Given the description of an element on the screen output the (x, y) to click on. 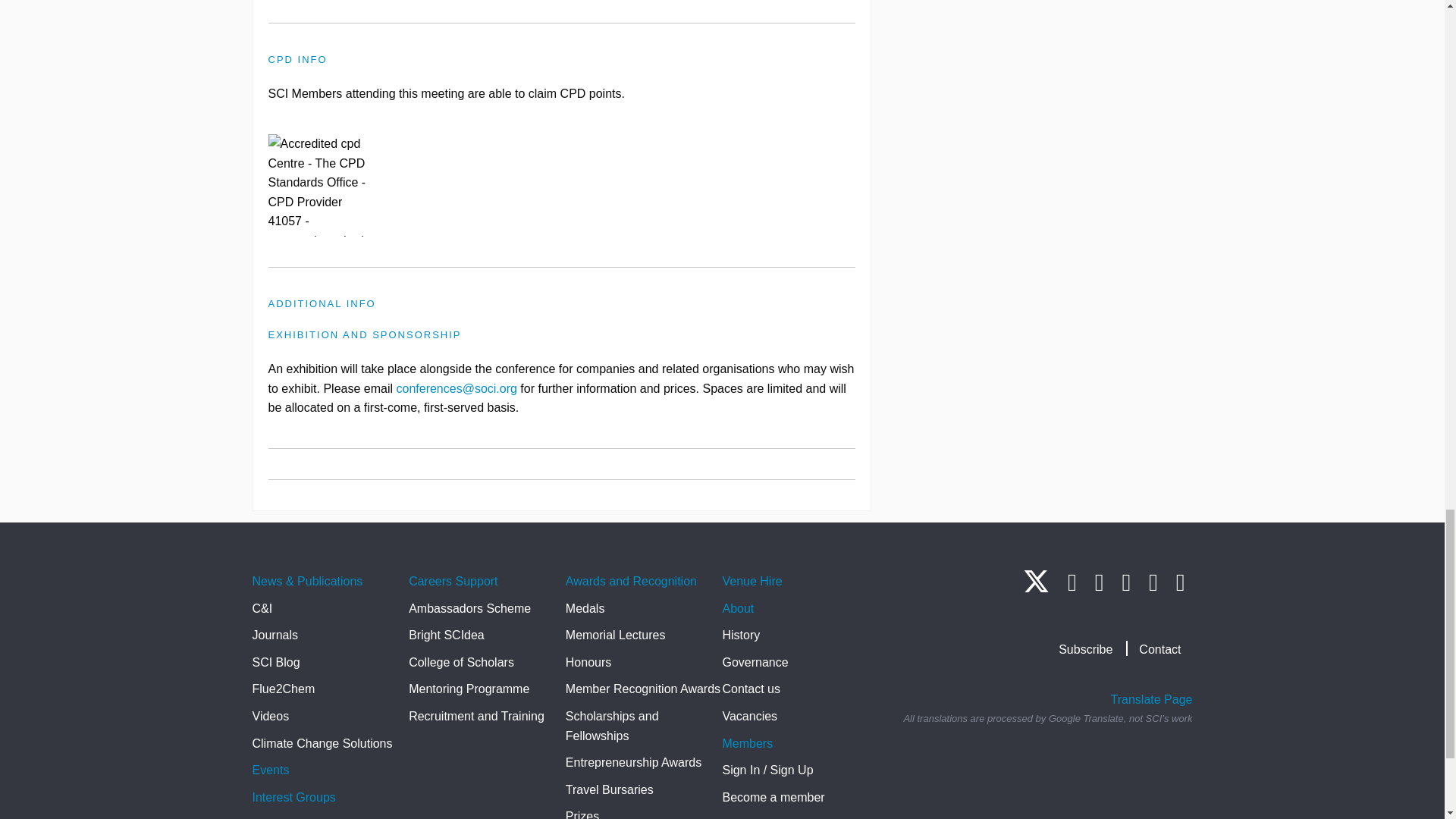
Instagram (1098, 582)
Twitter (1036, 588)
LinkedIn (1072, 582)
